Given the description of an element on the screen output the (x, y) to click on. 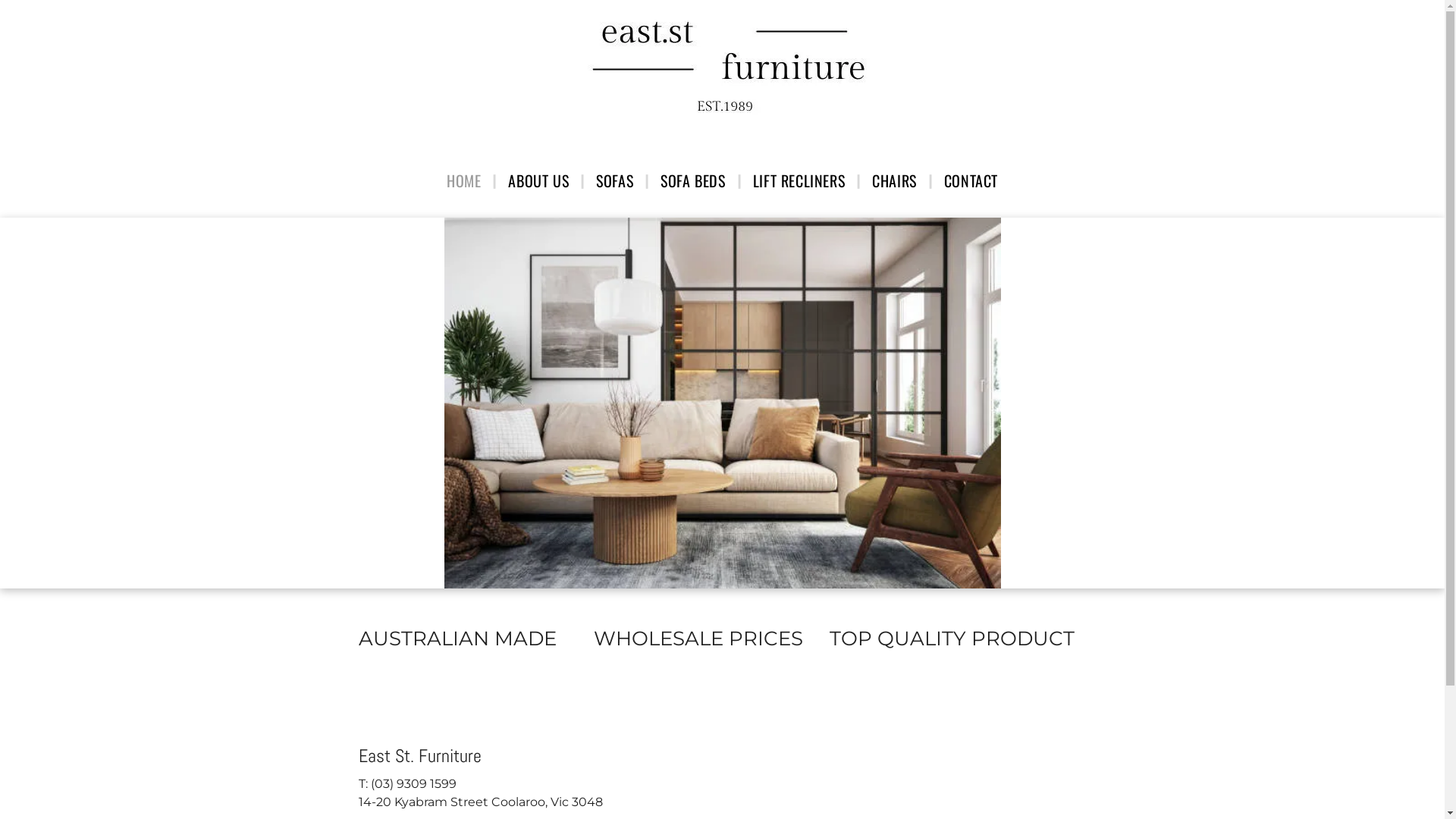
CONTACT Element type: text (970, 180)
ABOUT US Element type: text (538, 180)
SOFA BEDS Element type: text (692, 180)
HOME Element type: text (463, 180)
SOFAS Element type: text (614, 180)
CHAIRS Element type: text (894, 180)
LIFT RECLINERS Element type: text (798, 180)
